Given the description of an element on the screen output the (x, y) to click on. 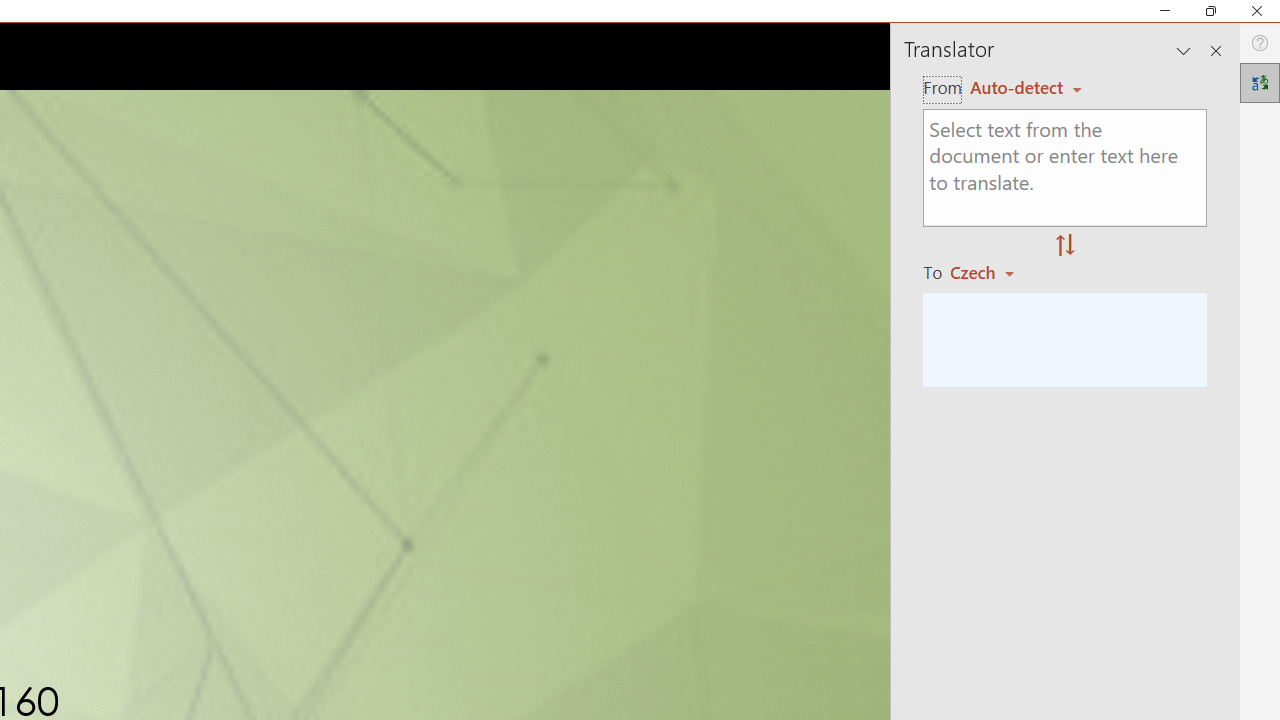
English (1025, 87)
Czech (991, 272)
Swap "from" and "to" languages. (1065, 245)
